Given the description of an element on the screen output the (x, y) to click on. 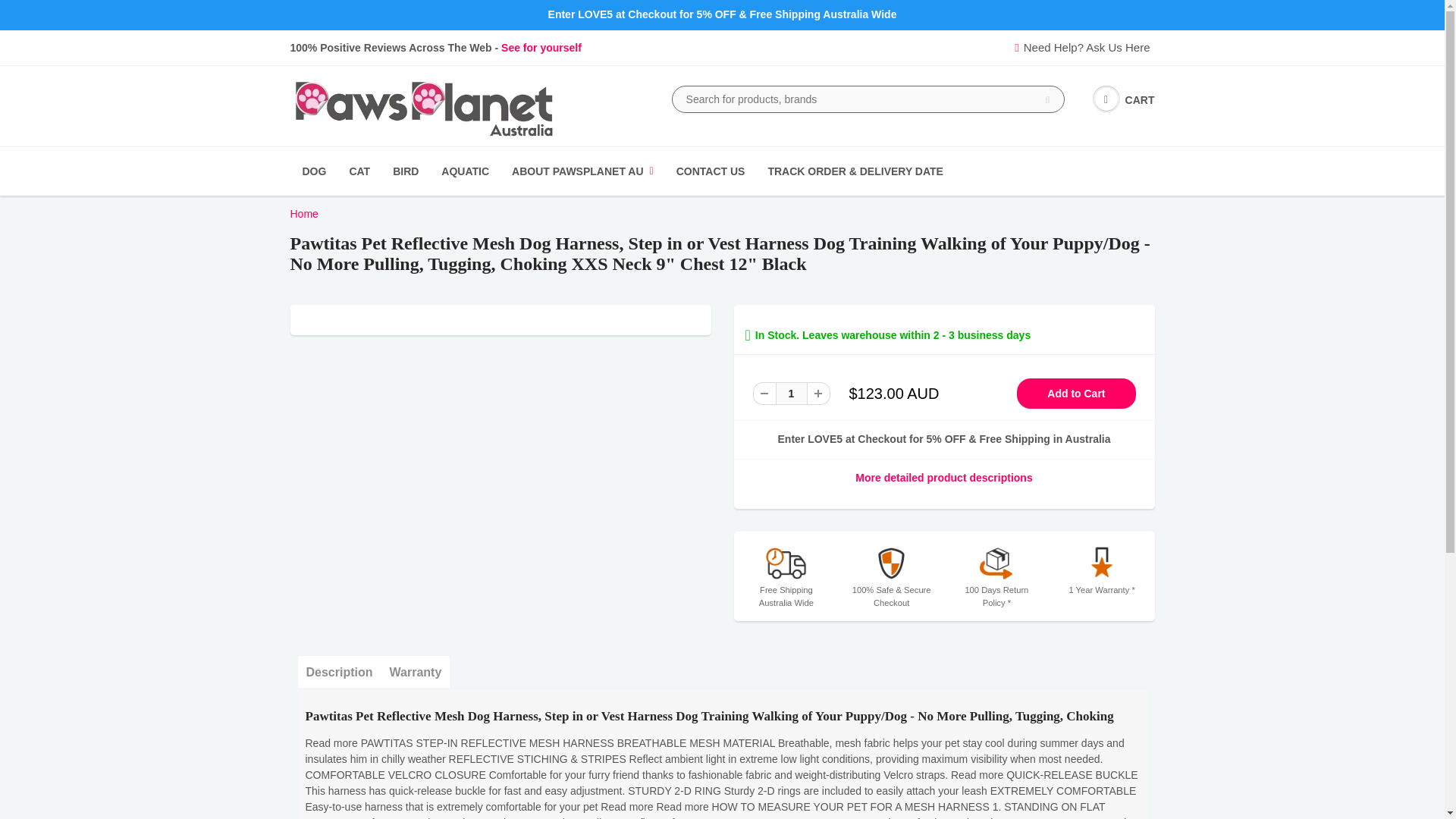
BIRD (405, 171)
CAT (359, 171)
CONTACT US (711, 171)
DOG (314, 171)
1 (790, 393)
About Us (540, 47)
AQUATIC (464, 171)
See for yourself (540, 47)
CART (1124, 99)
Home (303, 214)
Need Help? Ask Us Here (1084, 47)
More detailed product descriptions (943, 477)
Search (1047, 99)
Add to Cart (1075, 393)
ABOUT PAWSPLANET AU (582, 171)
